Given the description of an element on the screen output the (x, y) to click on. 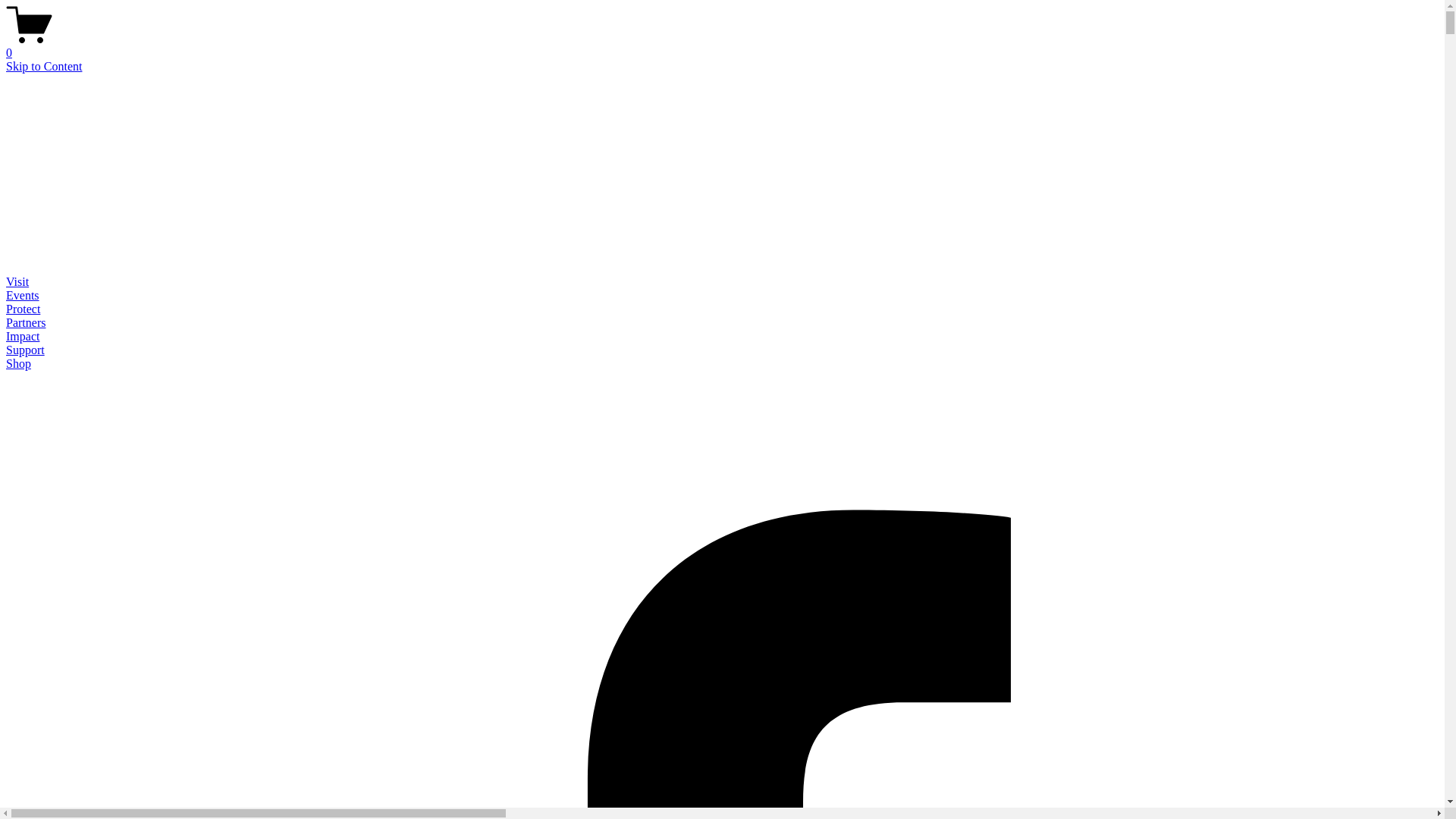
Support Element type: text (25, 349)
Impact Element type: text (22, 335)
Protect Element type: text (23, 308)
Partners Element type: text (25, 322)
Skip to Content Element type: text (43, 65)
Shop Element type: text (18, 363)
0 Element type: text (722, 45)
Visit Element type: text (17, 281)
Events Element type: text (22, 294)
